Given the description of an element on the screen output the (x, y) to click on. 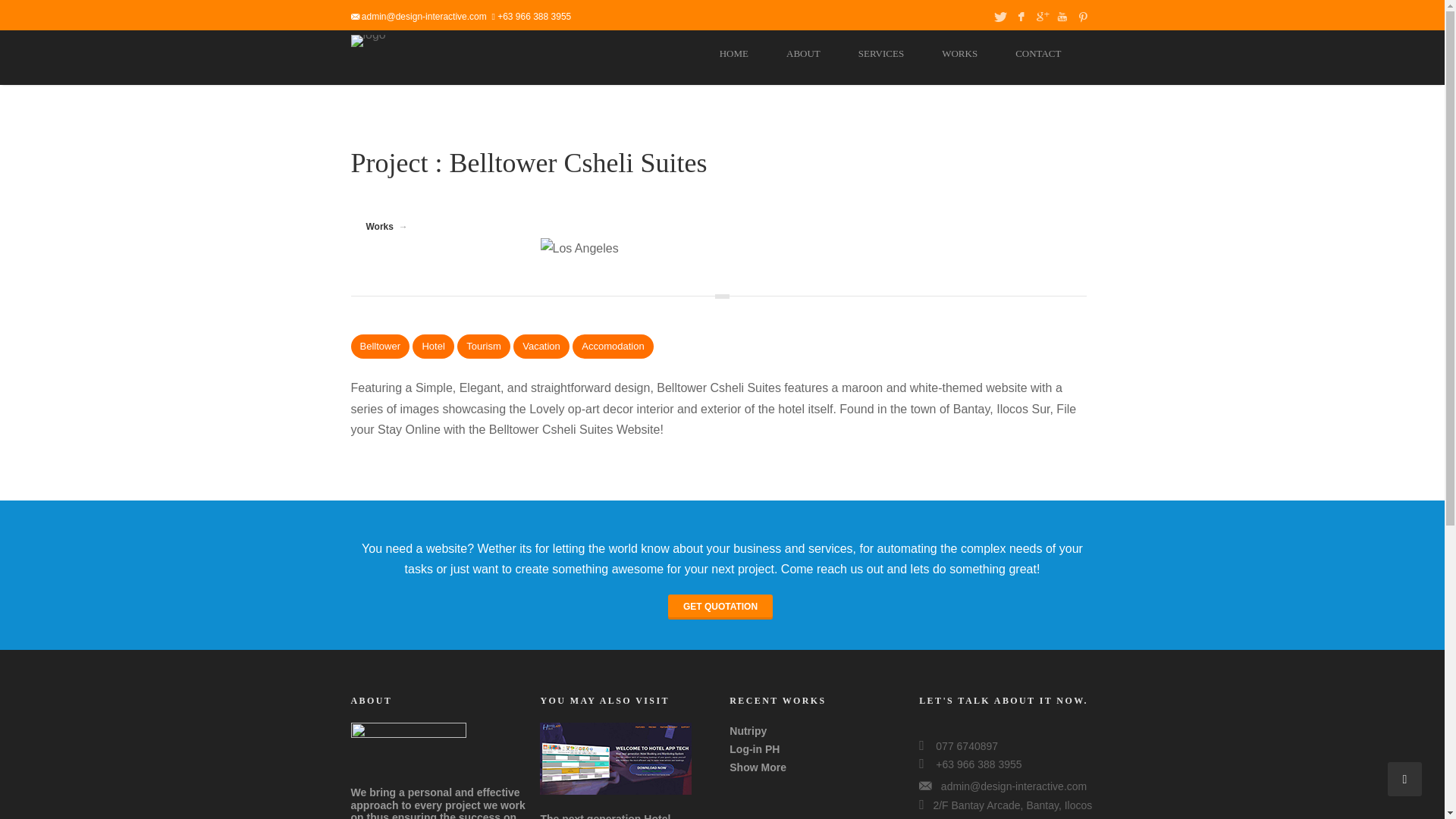
Nutripy (748, 730)
ABOUT (802, 56)
youtube (1064, 13)
googleplus (1043, 13)
CONTACT (1037, 56)
Show More (757, 767)
Works (379, 226)
HOME (733, 56)
Log-in PH (753, 748)
facebook (1021, 13)
WORKS (959, 56)
twitter (1000, 13)
SERVICES (881, 56)
The next generation Hotel Booking and Monitoring System. (623, 816)
